Given the description of an element on the screen output the (x, y) to click on. 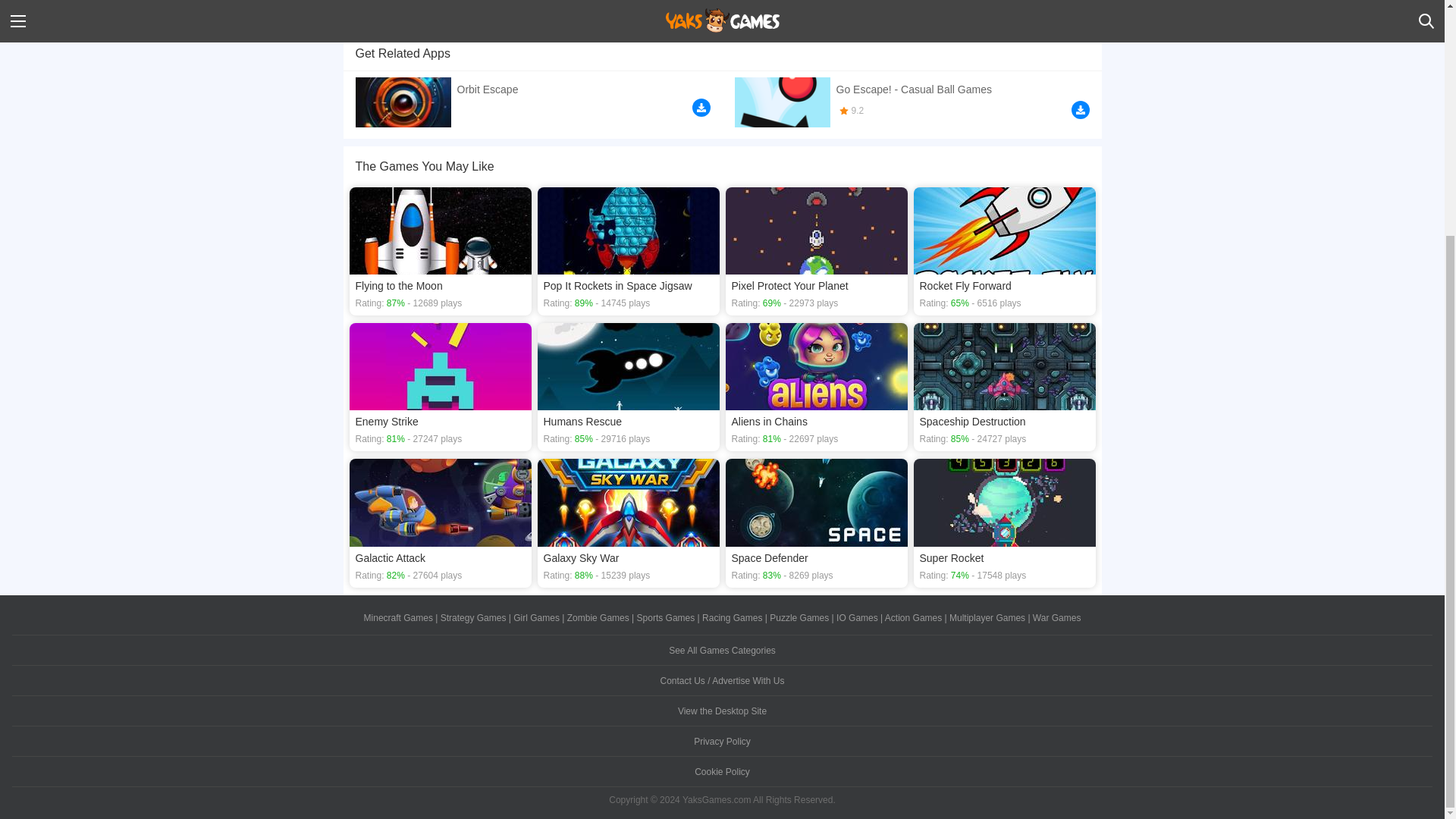
Rocket Fly Forward (1003, 251)
Orbit Escape (532, 99)
Pop It Rockets in Space Jigsaw (628, 251)
Galaxy Sky War (628, 522)
Space Defender (816, 522)
Pixel Protect Your Planet (816, 251)
Super Rocket (1003, 522)
Go Escape! - Casual Ball Games (911, 101)
Spaceship Destruction (1003, 386)
Flying to the Moon (440, 251)
Aliens in Chains (816, 386)
Humans Rescue (628, 386)
Galactic Attack (440, 522)
Contact Us (721, 680)
Enemy Strike (440, 386)
